Given the description of an element on the screen output the (x, y) to click on. 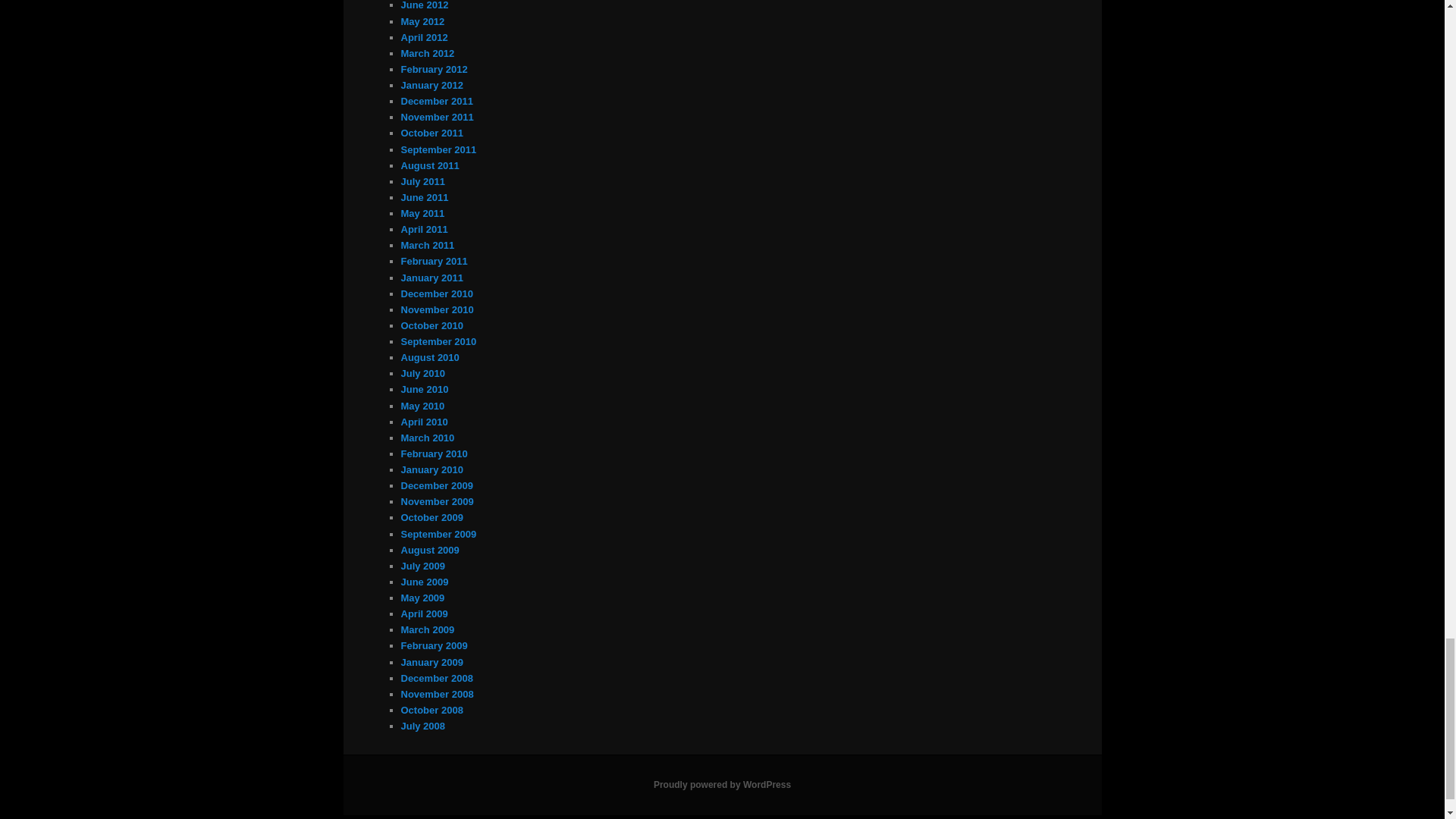
Semantic Personal Publishing Platform (721, 784)
